Given the description of an element on the screen output the (x, y) to click on. 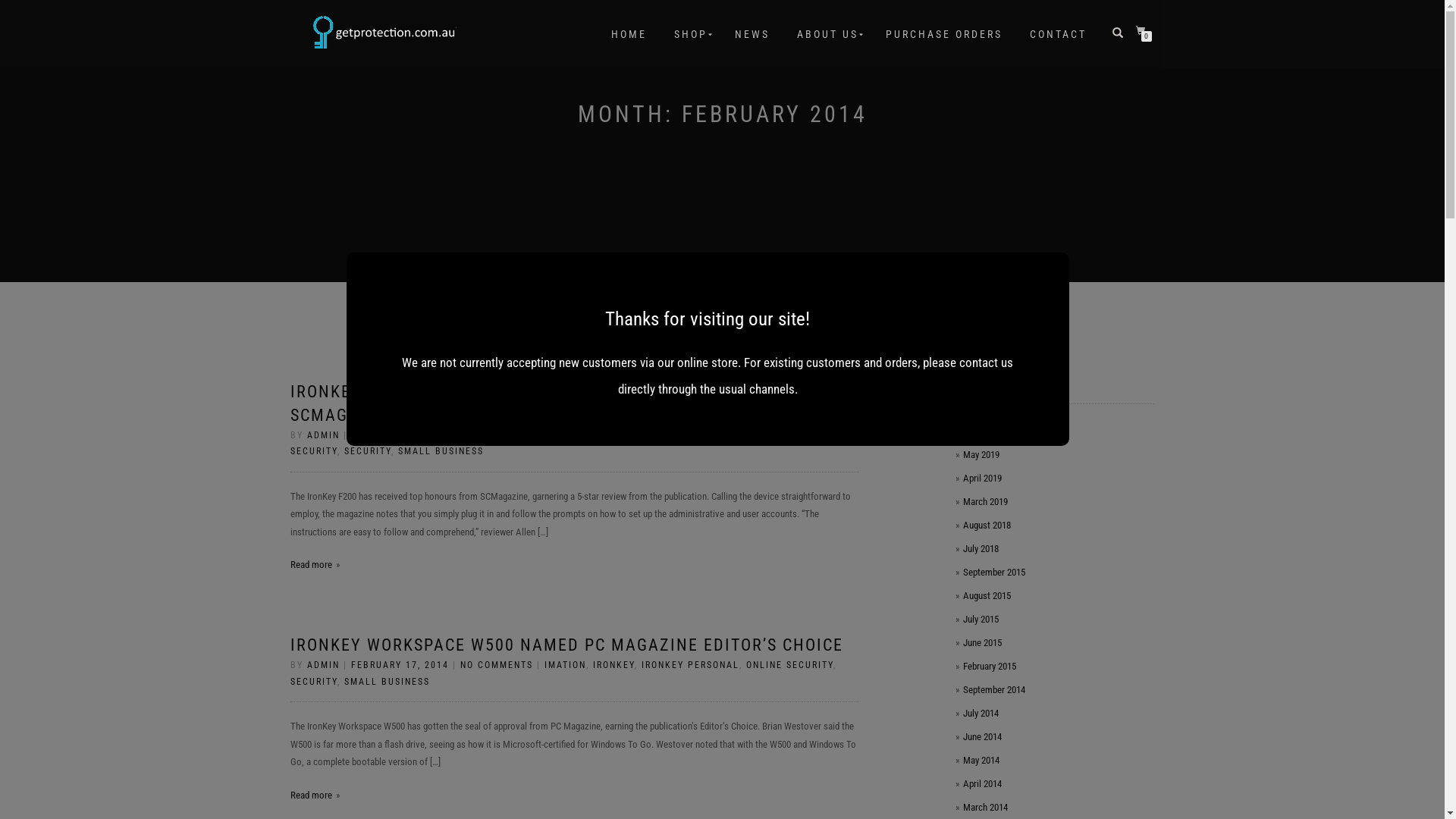
ADMIN Element type: text (322, 434)
June 2015 Element type: text (982, 642)
HOME Element type: text (628, 33)
ONLINE SECURITY Element type: text (789, 664)
FEBRUARY 17, 2014 Element type: text (399, 434)
September 2014 Element type: text (994, 689)
0 Element type: text (1143, 31)
Read more Element type: text (313, 794)
May 2014 Element type: text (981, 759)
NO COMMENTS Element type: text (495, 434)
Read more Element type: text (313, 564)
May 2019 Element type: text (981, 454)
ABOUT US Element type: text (827, 33)
NO COMMENTS Element type: text (495, 664)
SMALL BUSINESS Element type: text (440, 450)
IRONKEY Element type: text (565, 434)
IRONKEY Element type: text (613, 664)
March 2019 Element type: text (985, 501)
ONLINE SECURITY Element type: text (555, 443)
IRONKEY PERSONAL Element type: text (690, 664)
July 2015 Element type: text (980, 618)
IMATION Element type: text (565, 664)
IRONKEY PERSONAL Element type: text (641, 434)
August 2015 Element type: text (986, 595)
IRONKEY REVIEW Element type: text (738, 434)
CONTACT Element type: text (1057, 33)
SHOP Element type: text (690, 33)
July 2019 Element type: text (980, 430)
ADMIN Element type: text (322, 664)
July 2014 Element type: text (980, 712)
FEBRUARY 17, 2014 Element type: text (399, 664)
September 2015 Element type: text (994, 571)
NEWS Element type: text (752, 33)
July 2018 Element type: text (980, 548)
SECURITY Element type: text (312, 681)
March 2014 Element type: text (985, 806)
SECURITY Element type: text (367, 450)
February 2015 Element type: text (989, 665)
PURCHASE ORDERS Element type: text (943, 33)
June 2014 Element type: text (982, 736)
April 2019 Element type: text (982, 477)
SMALL BUSINESS Element type: text (386, 681)
April 2014 Element type: text (982, 783)
August 2018 Element type: text (986, 524)
